Given the description of an element on the screen output the (x, y) to click on. 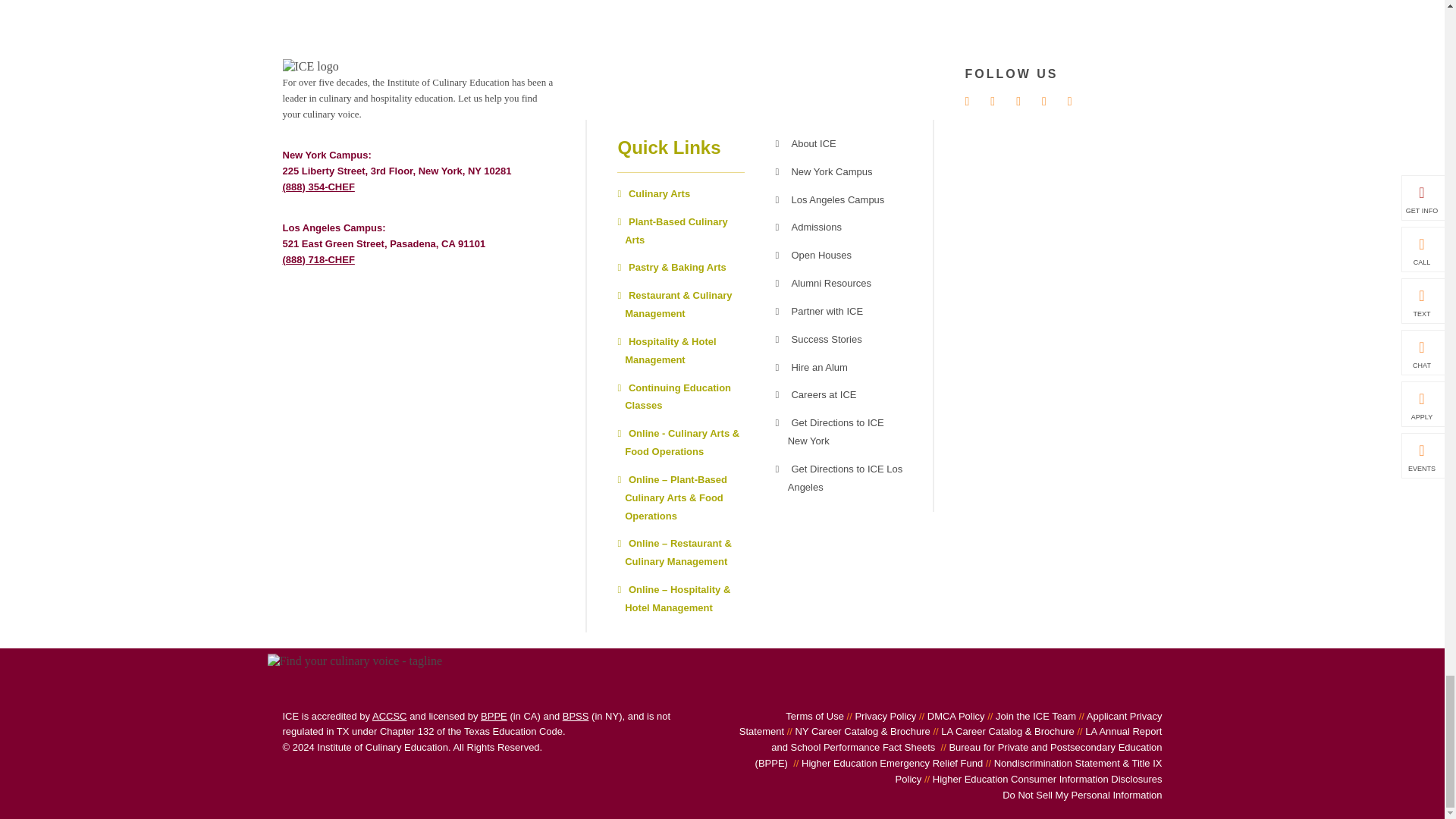
Bureau for Private Postsecondary Education (493, 715)
Accrediting Commission of Career Schools and Colleges (389, 715)
